Given the description of an element on the screen output the (x, y) to click on. 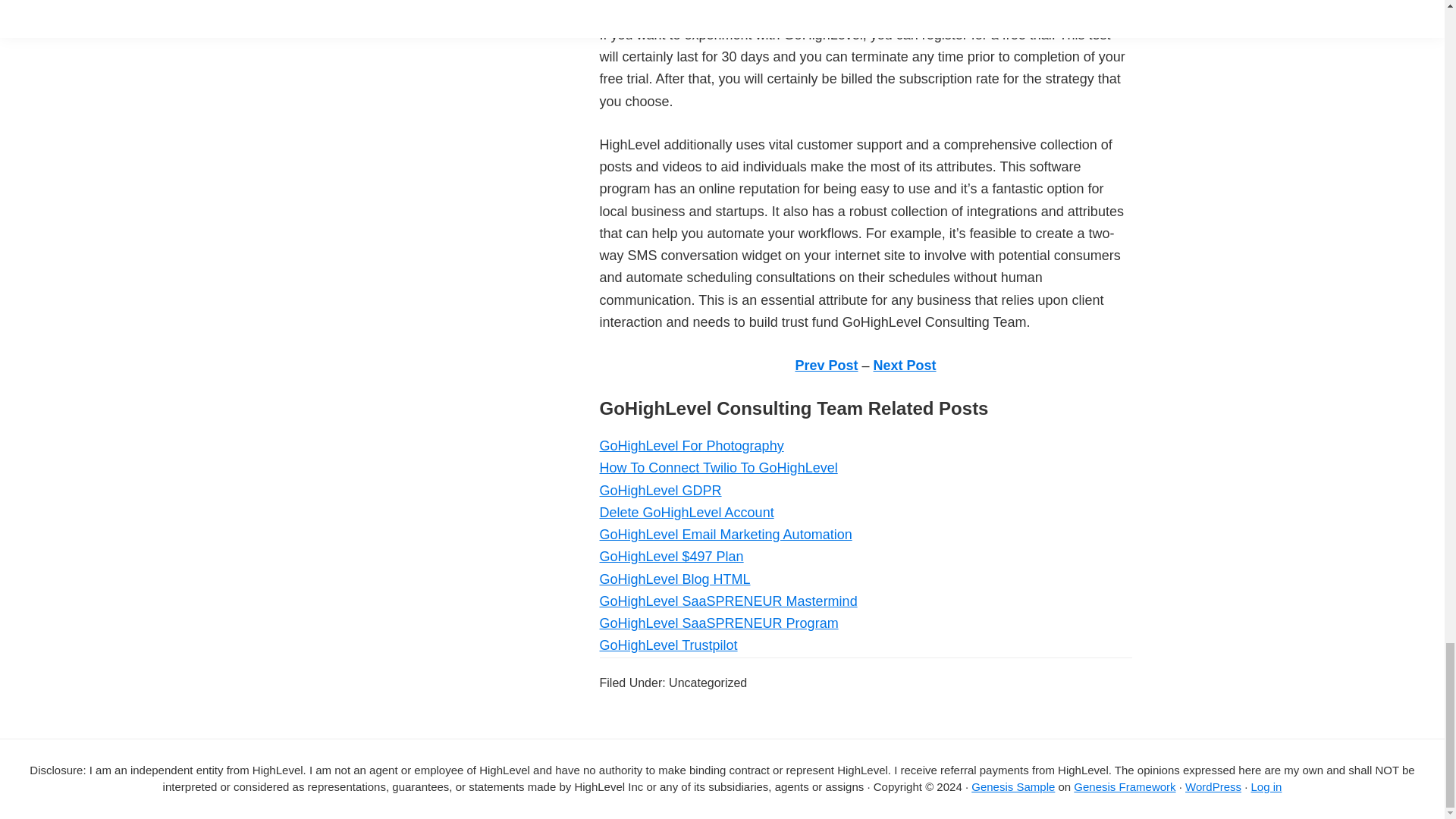
GoHighLevel SaaSPRENEUR Mastermind (727, 601)
Prev Post (825, 365)
GoHighLevel GDPR (659, 490)
Delete GoHighLevel Account (685, 512)
GoHighLevel For Photography (690, 445)
GoHighLevel SaaSPRENEUR Program (718, 622)
Delete GoHighLevel Account (685, 512)
GoHighLevel For Photography (690, 445)
GoHighLevel Blog HTML (673, 579)
Log in (1266, 786)
Genesis Framework (1124, 786)
GoHighLevel SaaSPRENEUR Mastermind (727, 601)
GoHighLevel Blog HTML (673, 579)
GoHighLevel SaaSPRENEUR Program (718, 622)
GoHighLevel GDPR (659, 490)
